Given the description of an element on the screen output the (x, y) to click on. 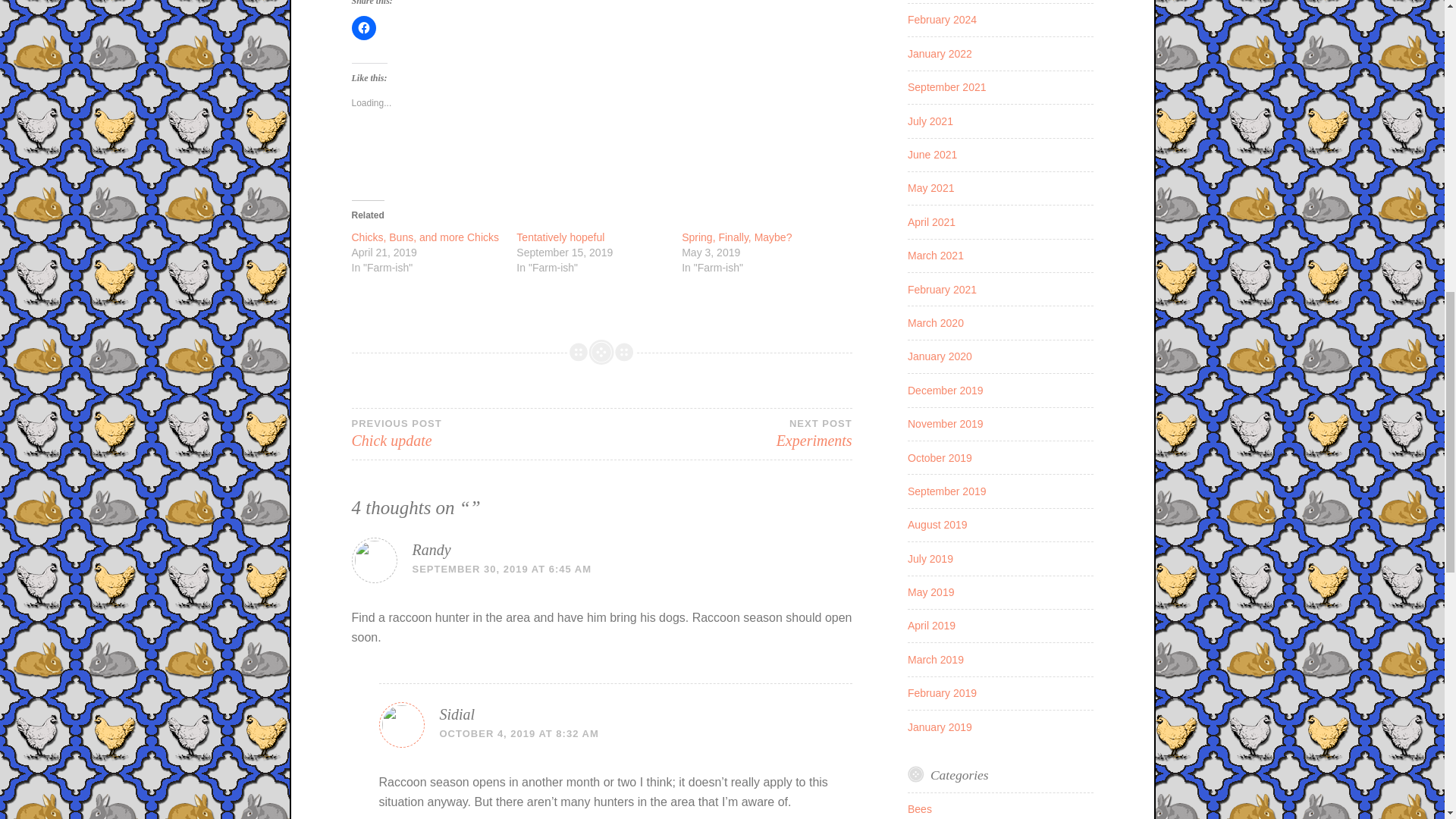
May 2021 (930, 187)
September 2021 (947, 87)
OCTOBER 4, 2019 AT 8:32 AM (477, 432)
Chicks, Buns, and more Chicks (726, 432)
Chicks, Buns, and more Chicks (518, 733)
Tentatively hopeful (425, 236)
Click to share on Facebook (425, 236)
SEPTEMBER 30, 2019 AT 6:45 AM (560, 236)
January 2022 (363, 27)
July 2021 (502, 568)
Tentatively hopeful (939, 53)
Spring, Finally, Maybe? (930, 121)
June 2021 (560, 236)
